Given the description of an element on the screen output the (x, y) to click on. 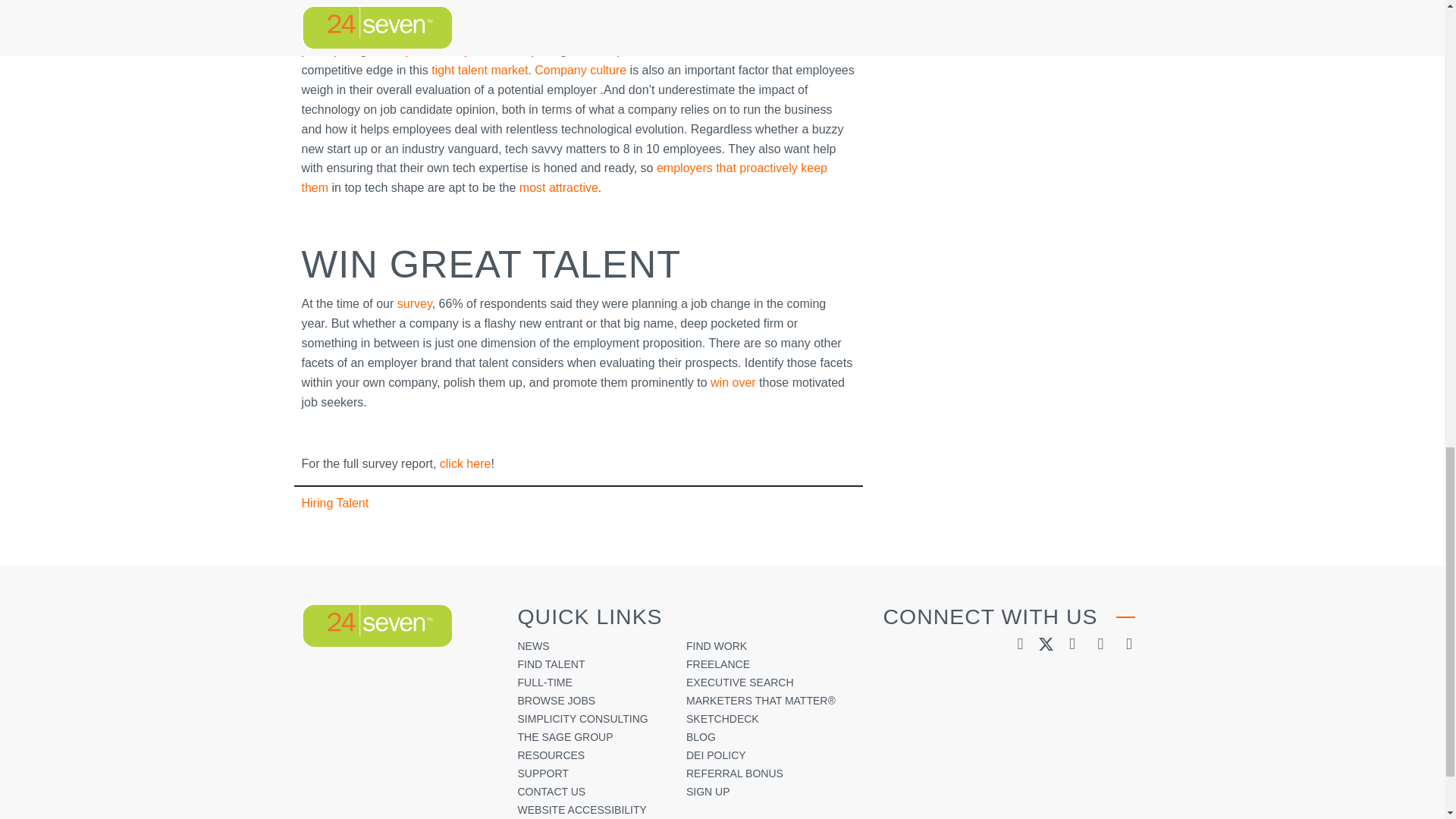
Youtube (1100, 643)
24 Seven Talent (376, 626)
Instagram (1128, 643)
Twitter (1046, 643)
win over (732, 382)
Facebook (1071, 643)
click here (465, 463)
most attractive (555, 187)
24 Seven (376, 625)
Company culture (580, 69)
